Given the description of an element on the screen output the (x, y) to click on. 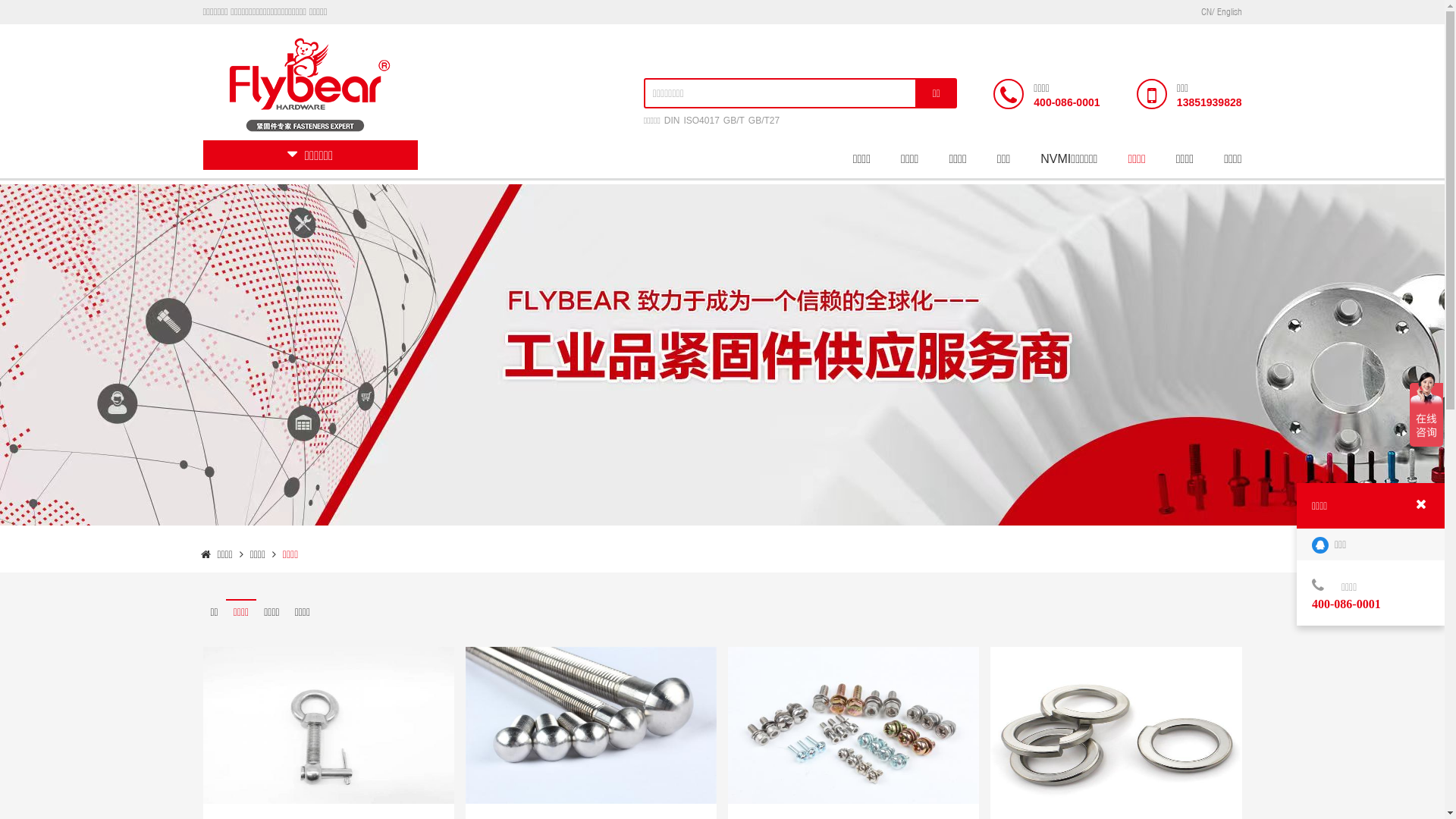
DIN Element type: text (672, 120)
GB/T Element type: text (733, 120)
CN Element type: text (1206, 11)
ISO4017 Element type: text (700, 120)
English Element type: text (1228, 11)
GB/T27 Element type: text (763, 120)
